Given the description of an element on the screen output the (x, y) to click on. 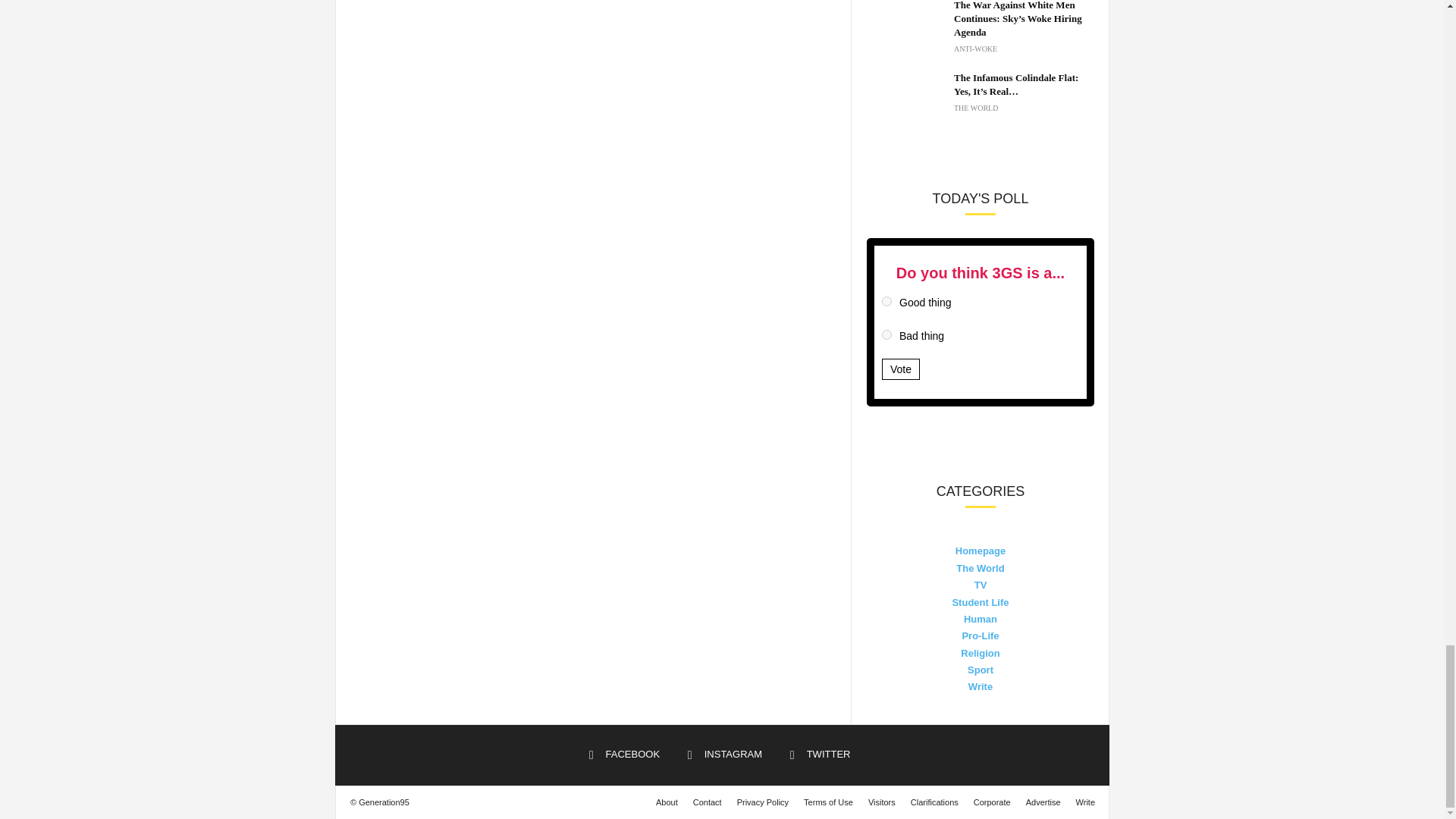
94 (886, 301)
95 (886, 334)
